Given the description of an element on the screen output the (x, y) to click on. 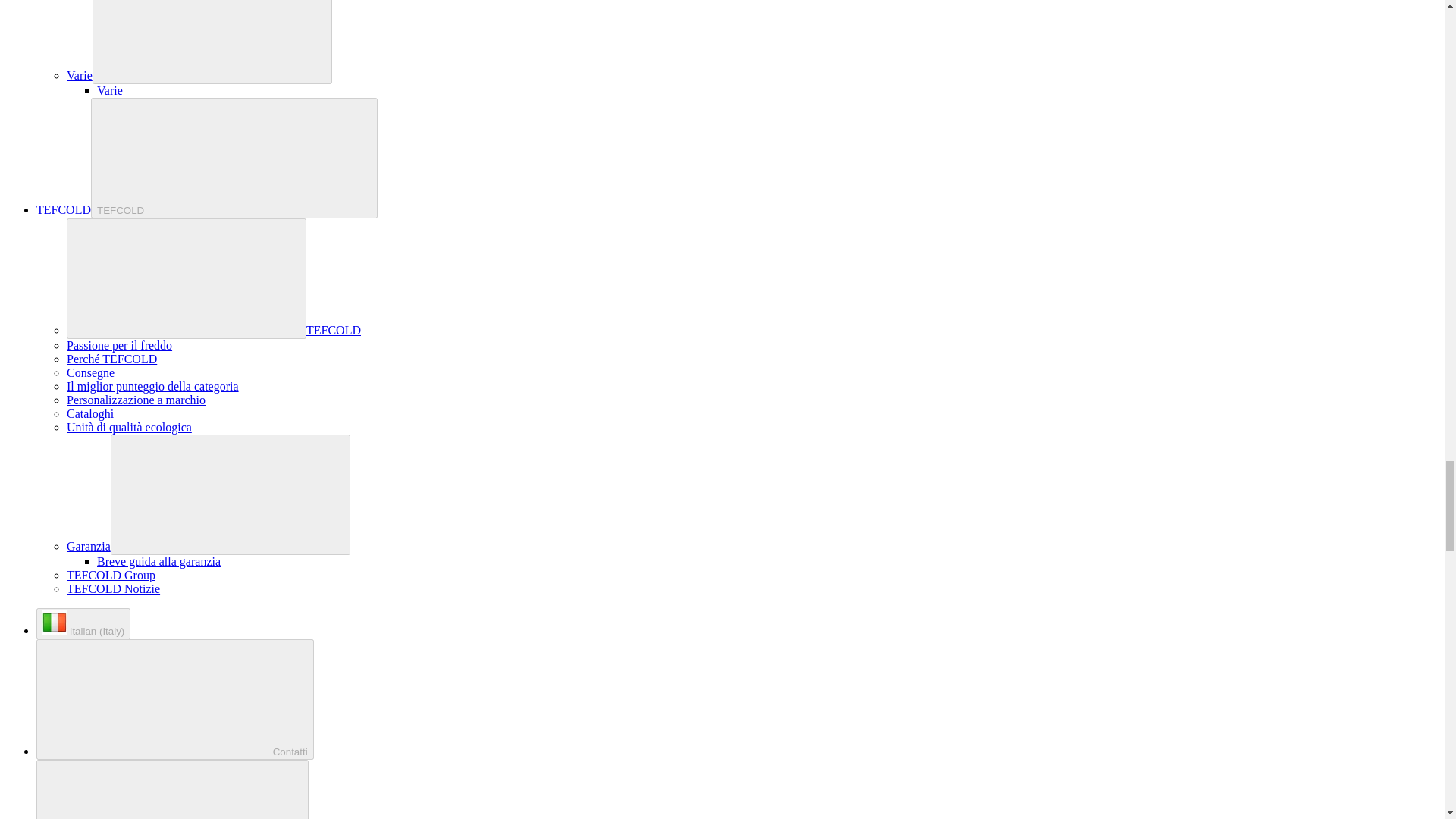
Mostra i contatti (175, 699)
Mostra login shop online (172, 789)
Choose Language (83, 623)
